Given the description of an element on the screen output the (x, y) to click on. 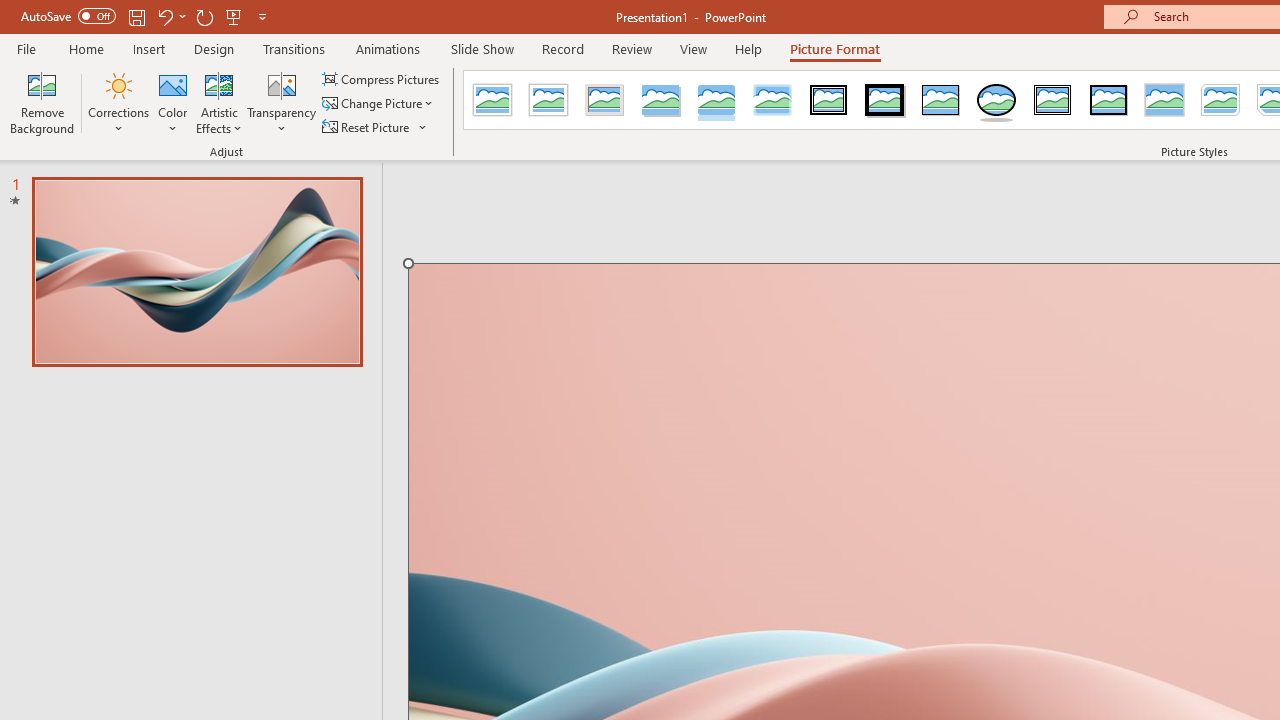
Drop Shadow Rectangle (660, 100)
Help (748, 48)
Customize Quick Access Toolbar (262, 15)
Beveled Matte, White (548, 100)
View (693, 48)
Picture Format (834, 48)
Simple Frame, Black (940, 100)
More Options (424, 126)
Soft Edge Rectangle (772, 100)
Reflected Rounded Rectangle (716, 100)
Transparency (281, 102)
Thick Matte, Black (884, 100)
Metal Frame (605, 100)
